Given the description of an element on the screen output the (x, y) to click on. 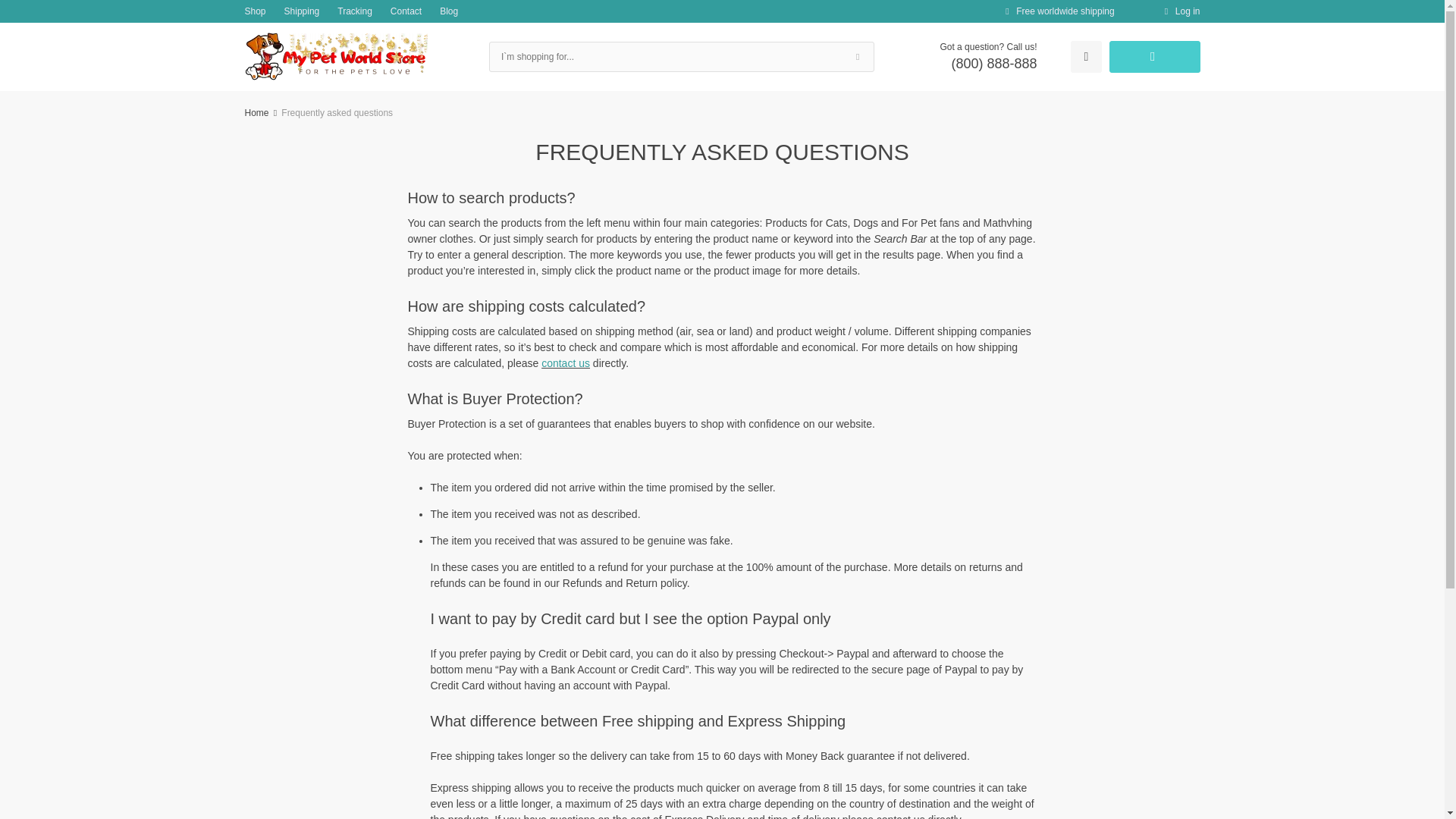
Shop (254, 11)
Log in (1179, 10)
Contact (406, 11)
Tracking (354, 11)
contact us (565, 362)
Log in (1179, 10)
Home (255, 112)
Wishlist (1085, 56)
Shipping (301, 11)
